Given the description of an element on the screen output the (x, y) to click on. 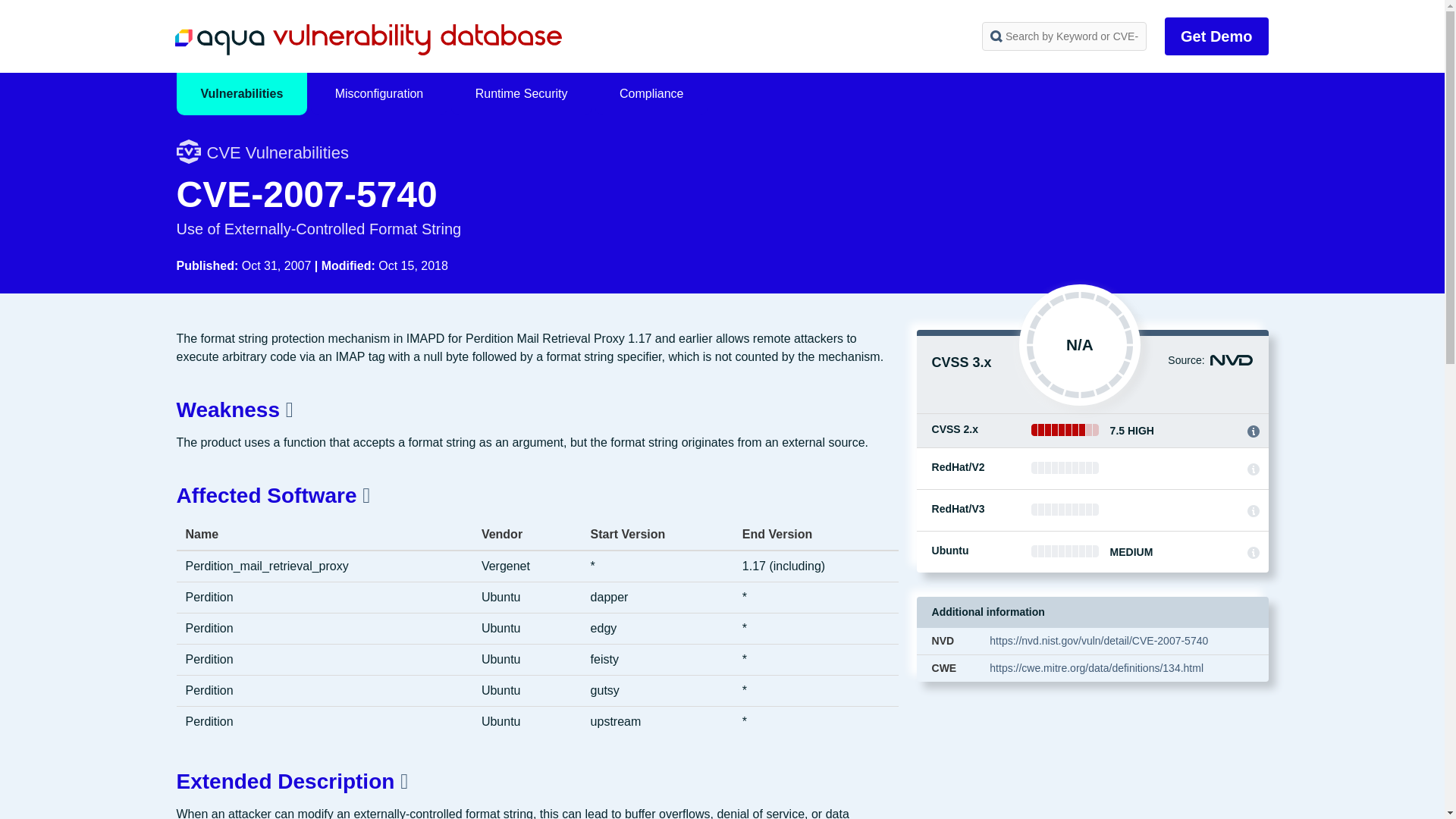
Aqua Vulnerability Database (367, 39)
Misconfiguration (379, 93)
Compliance (651, 93)
Vulnerabilities (241, 93)
Get Demo (1216, 36)
Runtime Security (521, 93)
Aqua Vulnerability Database (367, 39)
